Given the description of an element on the screen output the (x, y) to click on. 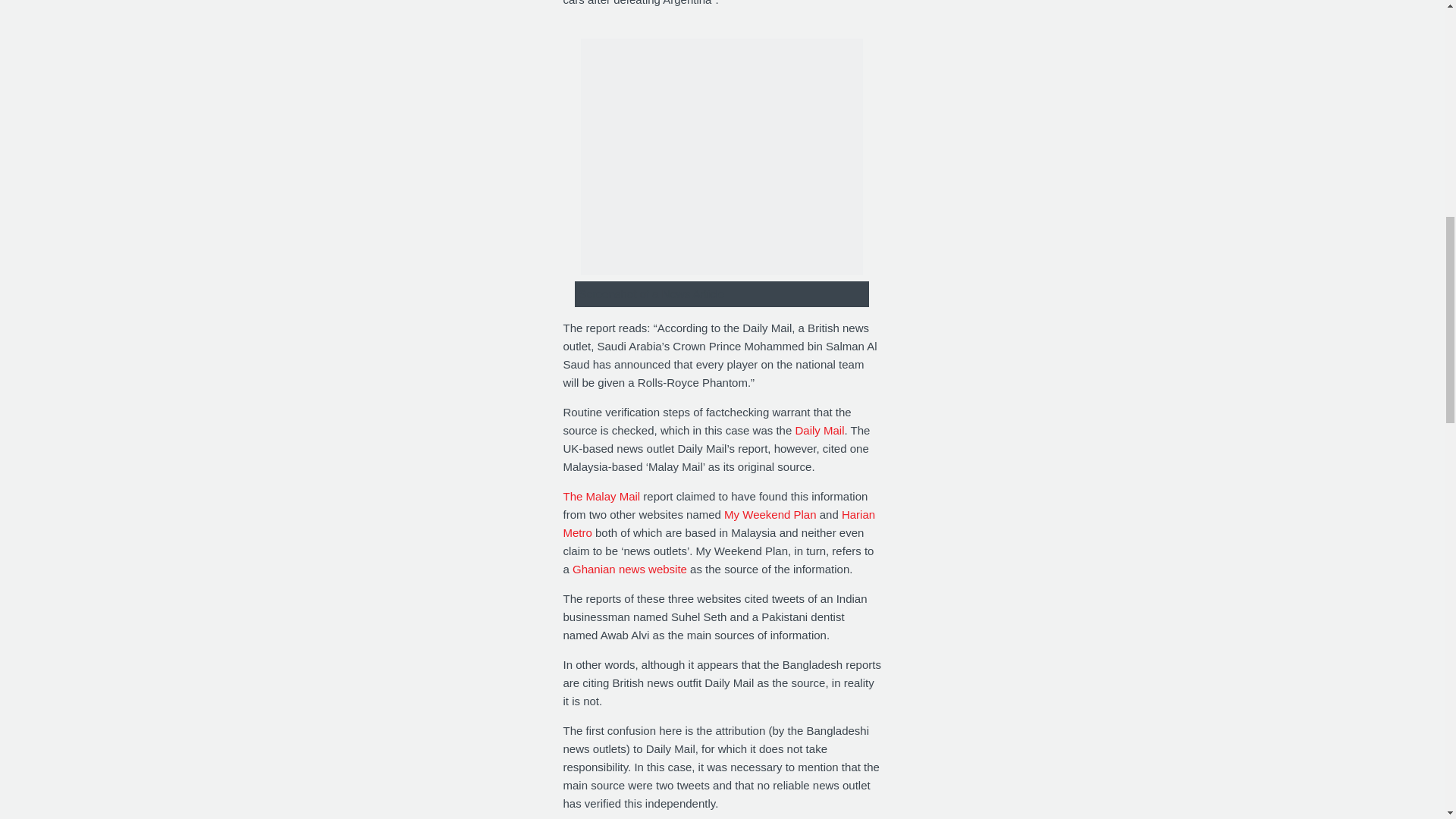
Daily Mail (819, 430)
Harian Metro (718, 522)
The Malay Mail (601, 495)
My Weekend Plan (769, 513)
Ghanian news website (629, 568)
